Given the description of an element on the screen output the (x, y) to click on. 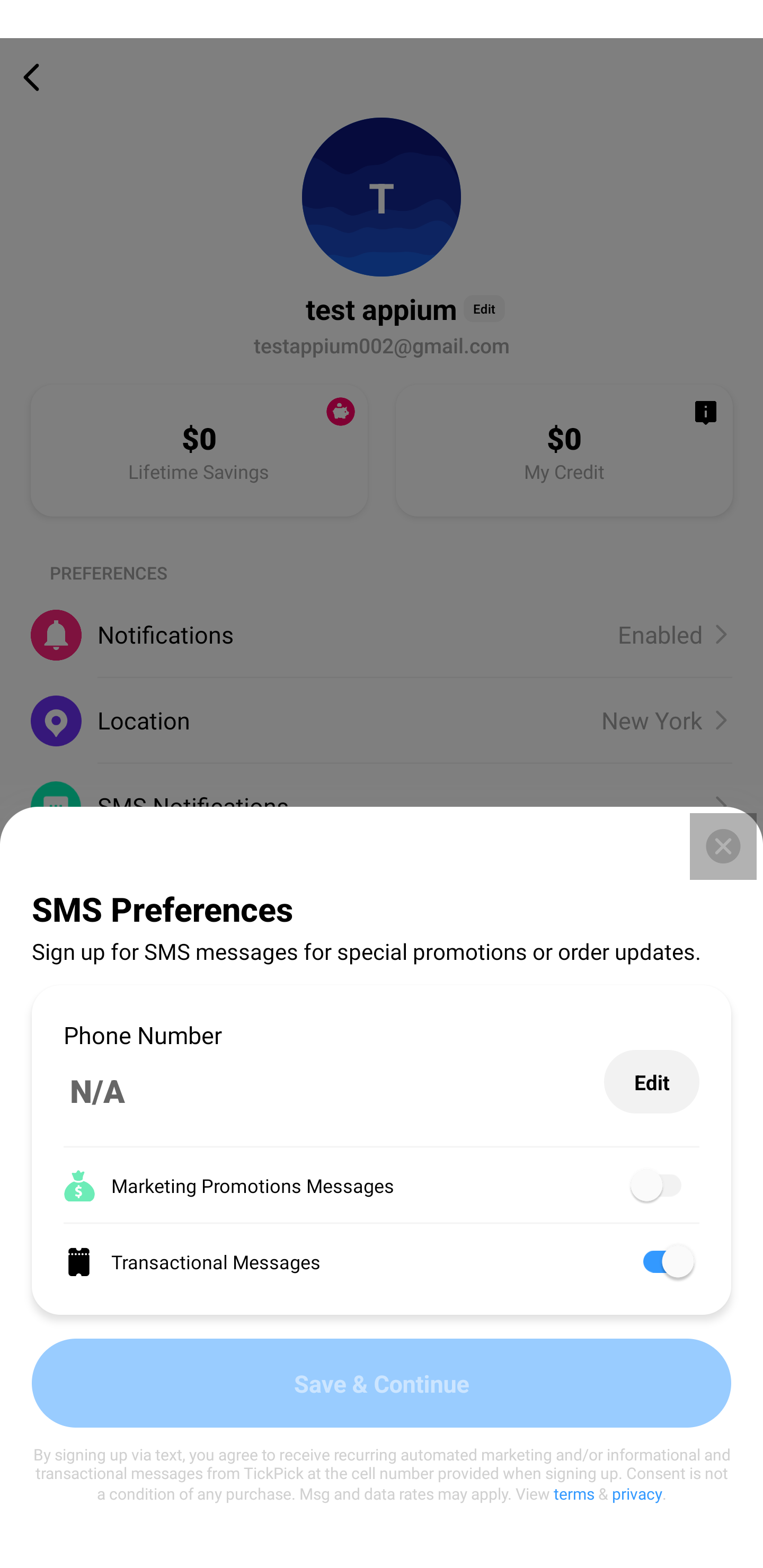
Edit (651, 1081)
N/A (333, 1091)
Save & Continue (381, 1382)
